Given the description of an element on the screen output the (x, y) to click on. 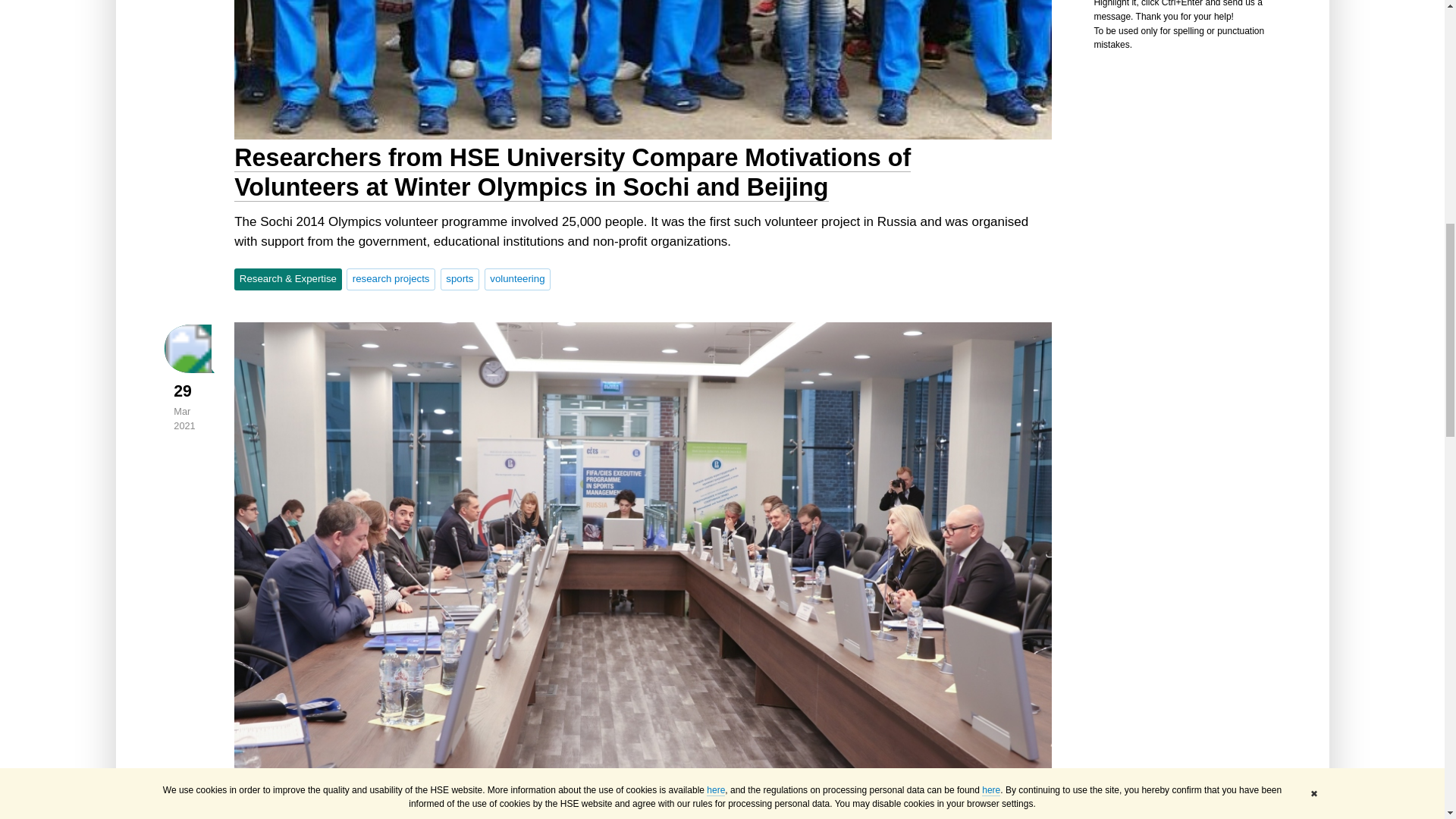
volunteering (517, 278)
sports (460, 278)
research projects (390, 278)
research projects (390, 278)
sports (460, 278)
volunteering (517, 278)
